Given the description of an element on the screen output the (x, y) to click on. 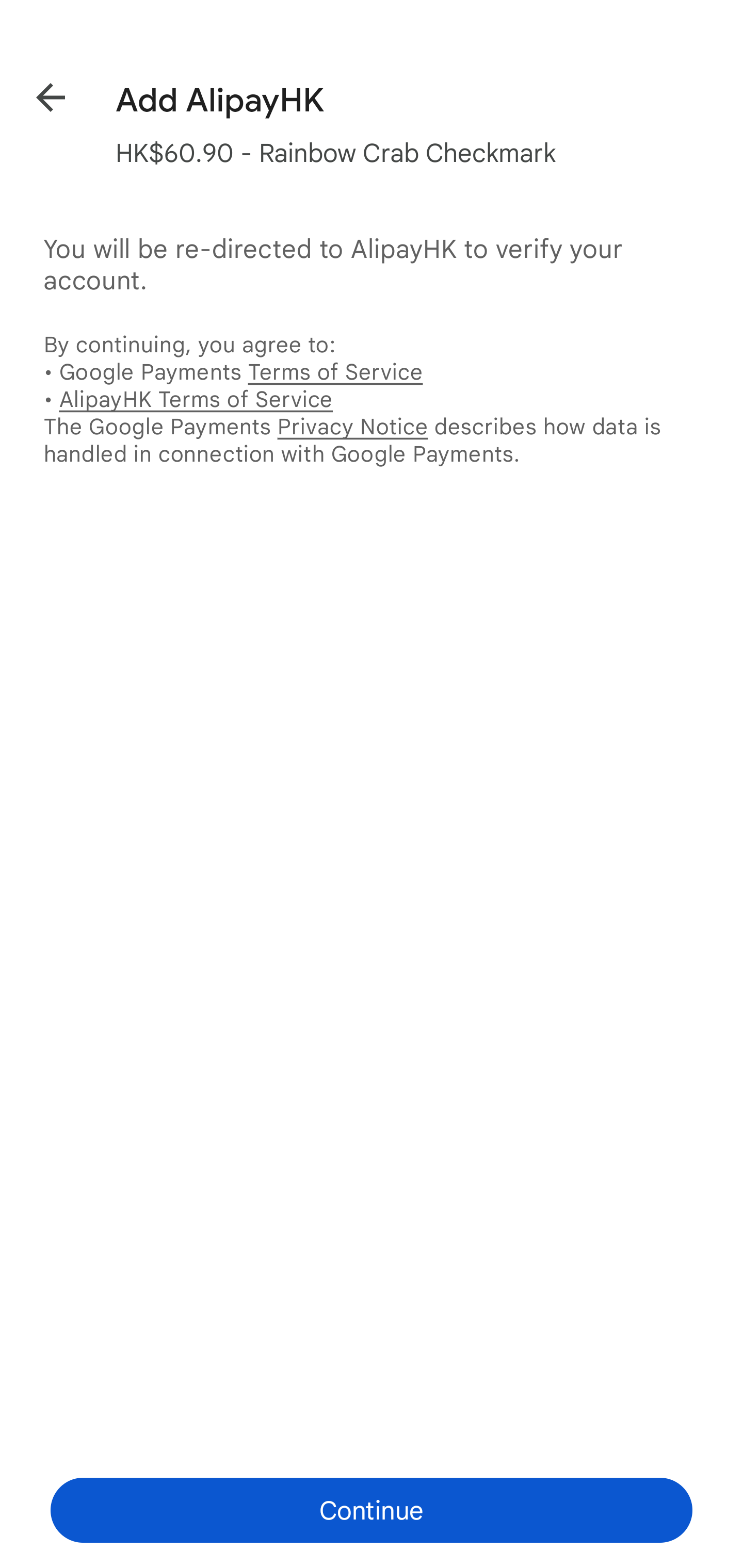
Back (36, 94)
Terms of Service (334, 372)
AlipayHK Terms of Service (195, 398)
Privacy Notice (352, 426)
Continue (371, 1510)
